Given the description of an element on the screen output the (x, y) to click on. 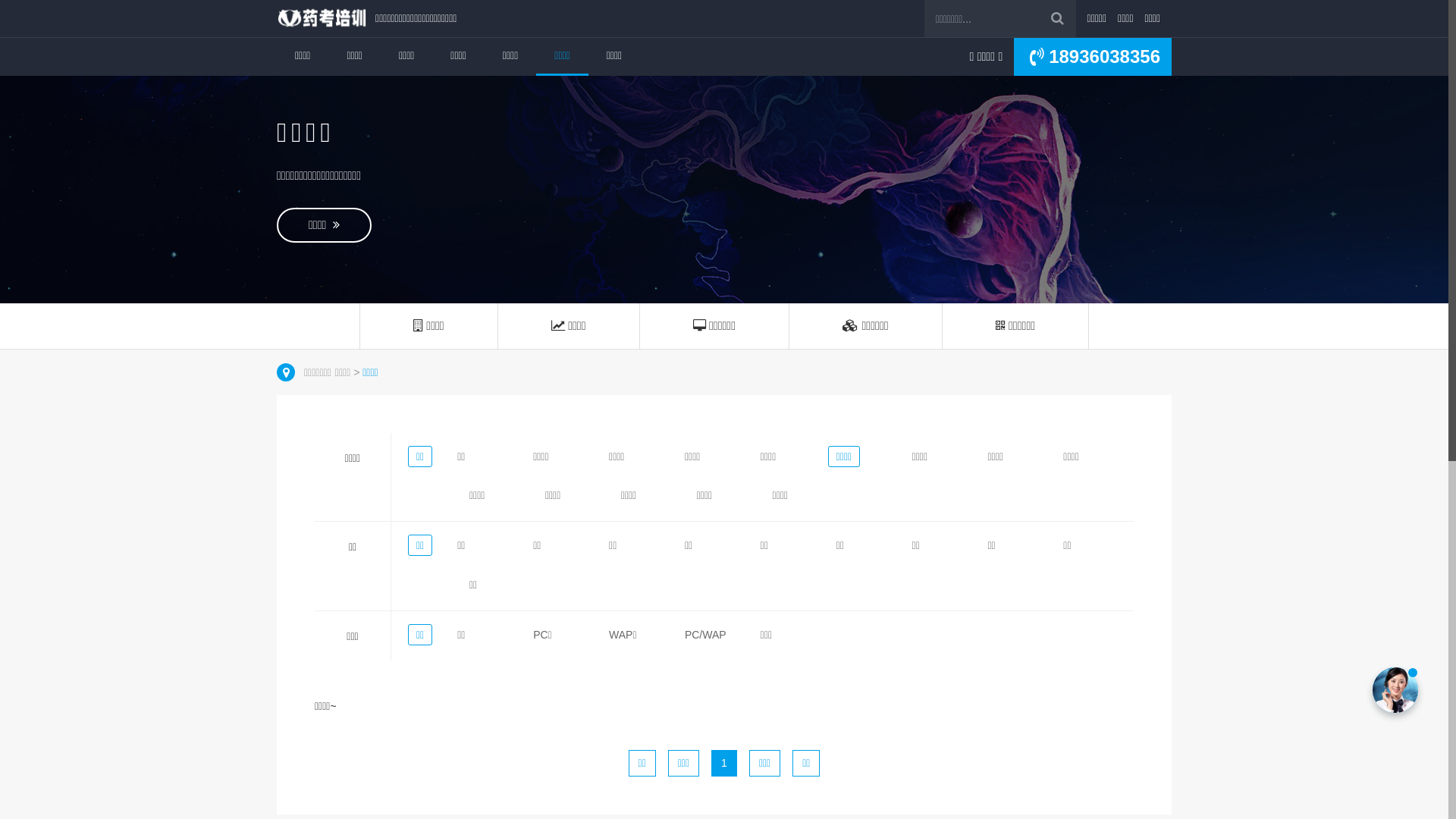
1 Element type: text (724, 763)
PC/WAP Element type: text (705, 634)
